Given the description of an element on the screen output the (x, y) to click on. 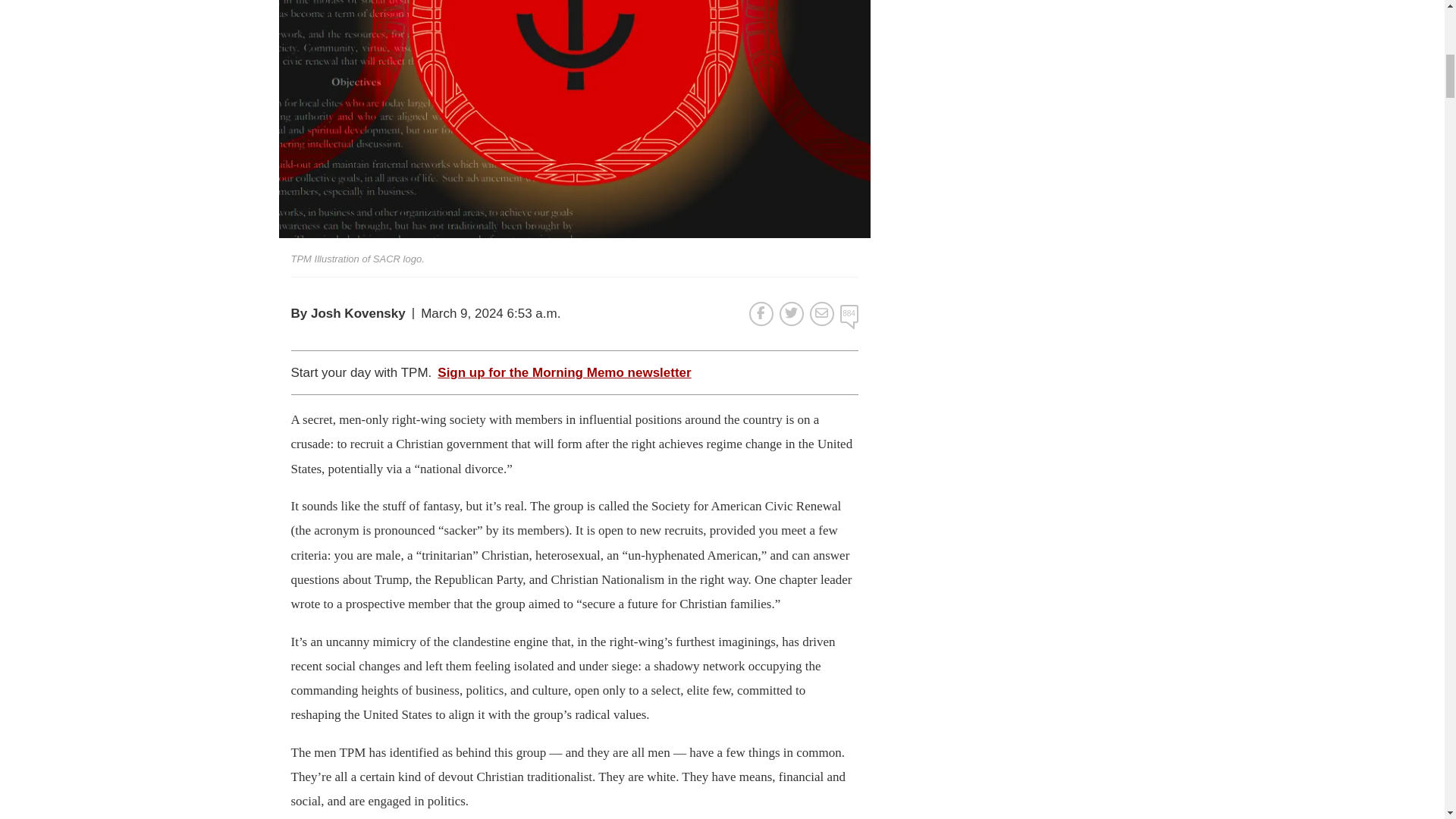
Posts by Josh Kovensky (358, 313)
Josh Kovensky (358, 313)
884 (849, 313)
Sign up for the Morning Memo newsletter (564, 373)
